Given the description of an element on the screen output the (x, y) to click on. 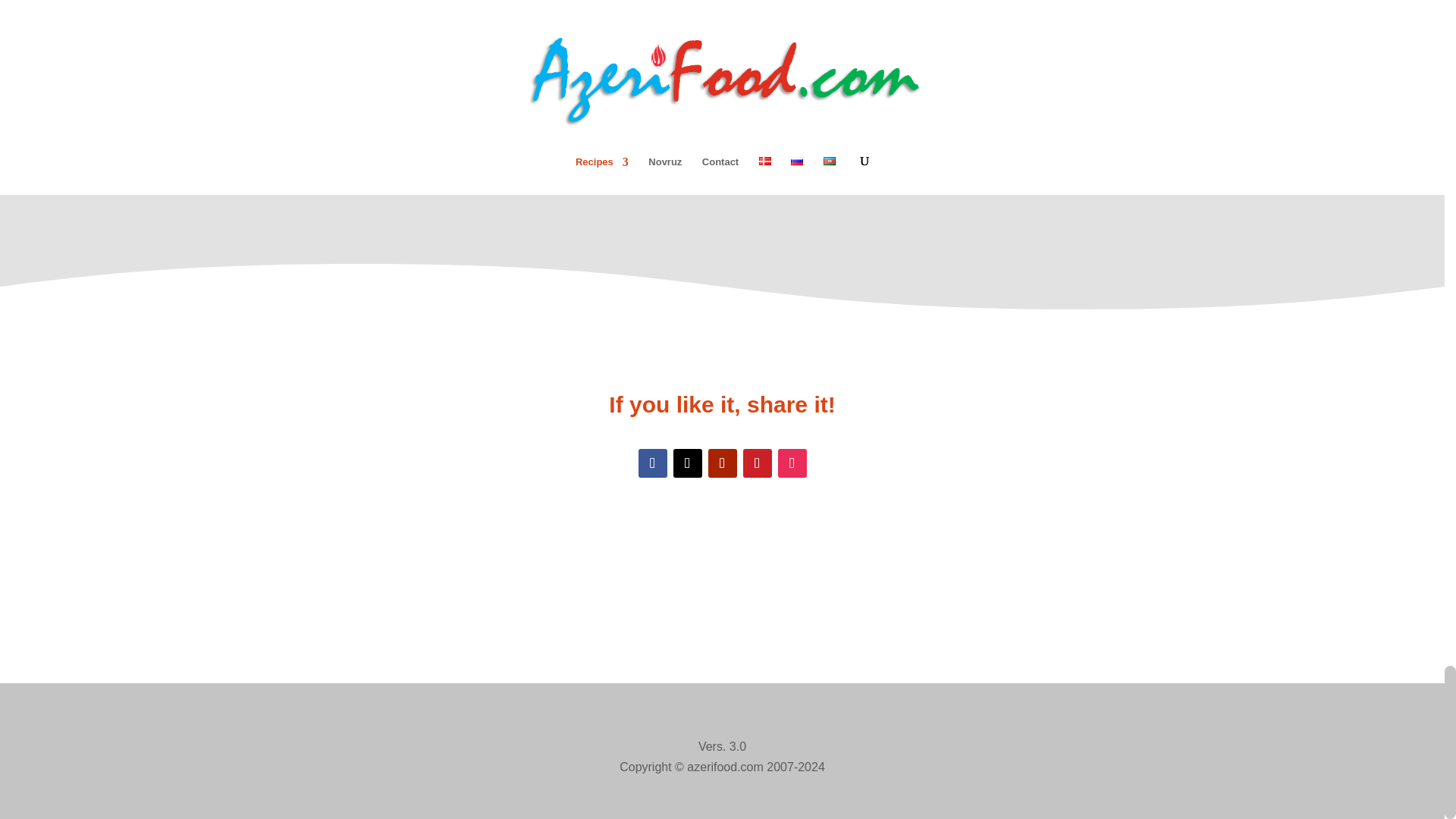
Follow on Pinterest (756, 462)
Follow on X (686, 462)
Follow on Facebook (652, 462)
Follow on Youtube (721, 462)
Follow on Instagram (791, 462)
